Given the description of an element on the screen output the (x, y) to click on. 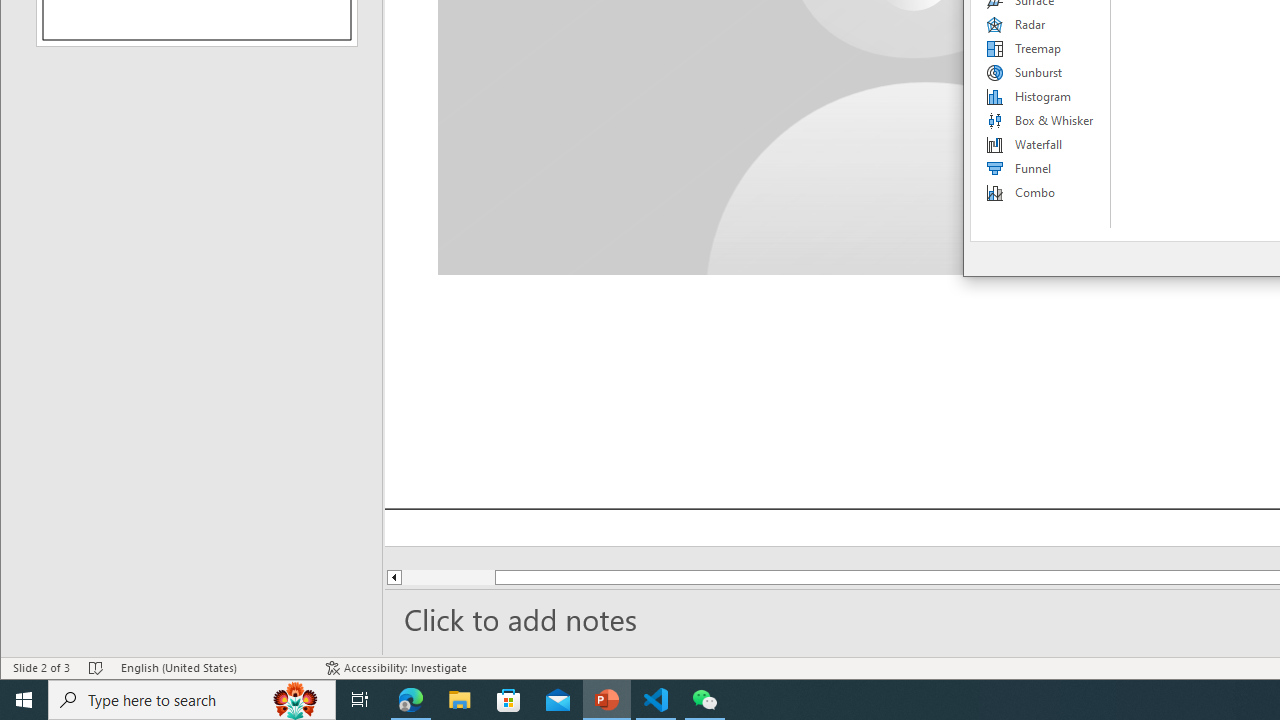
Box & Whisker (1041, 120)
Sunburst (1041, 72)
Histogram (1041, 96)
Funnel (1041, 168)
Radar (1041, 24)
WeChat - 1 running window (704, 699)
